Given the description of an element on the screen output the (x, y) to click on. 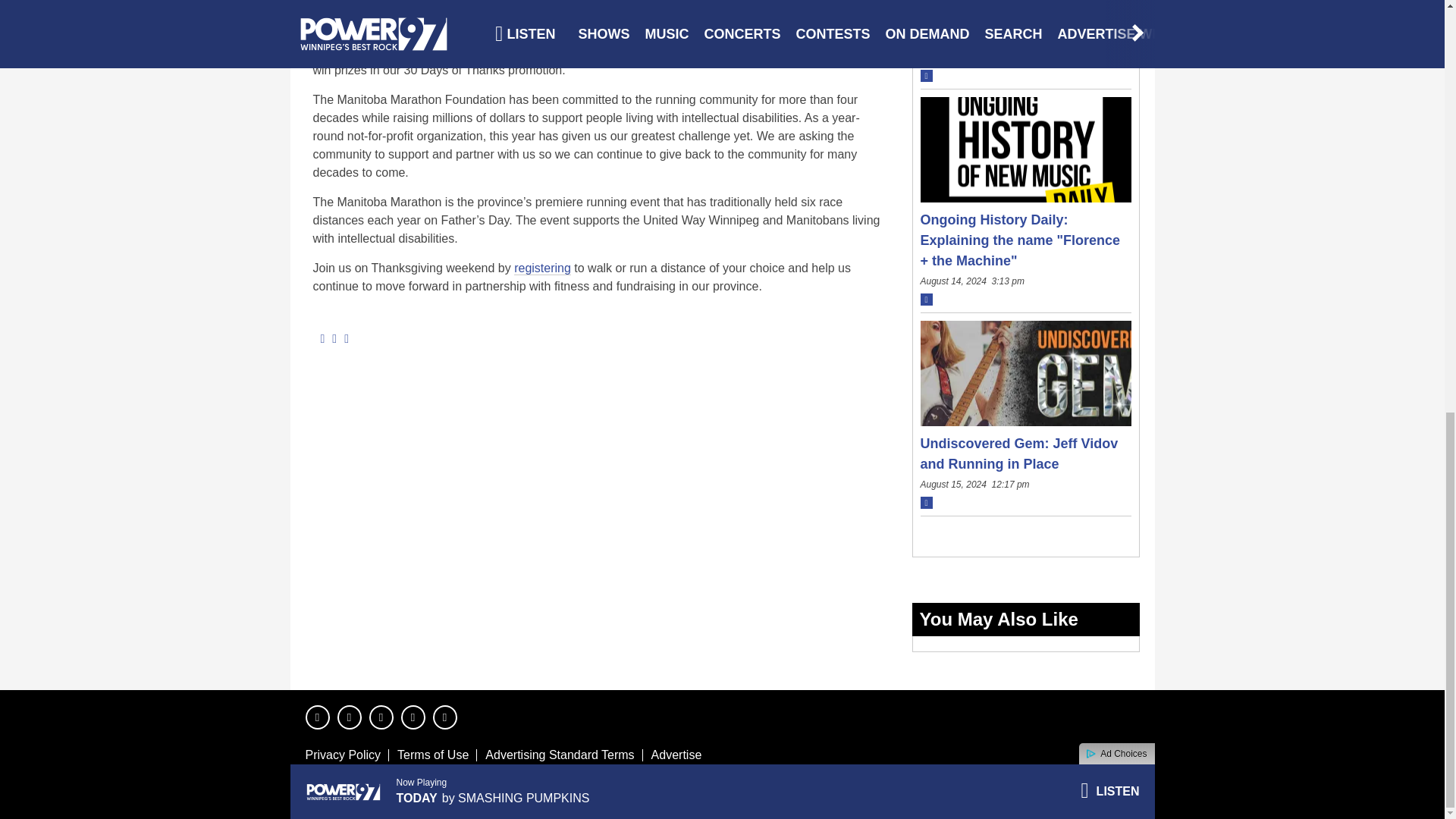
Corus (1088, 792)
registering (541, 268)
